Given the description of an element on the screen output the (x, y) to click on. 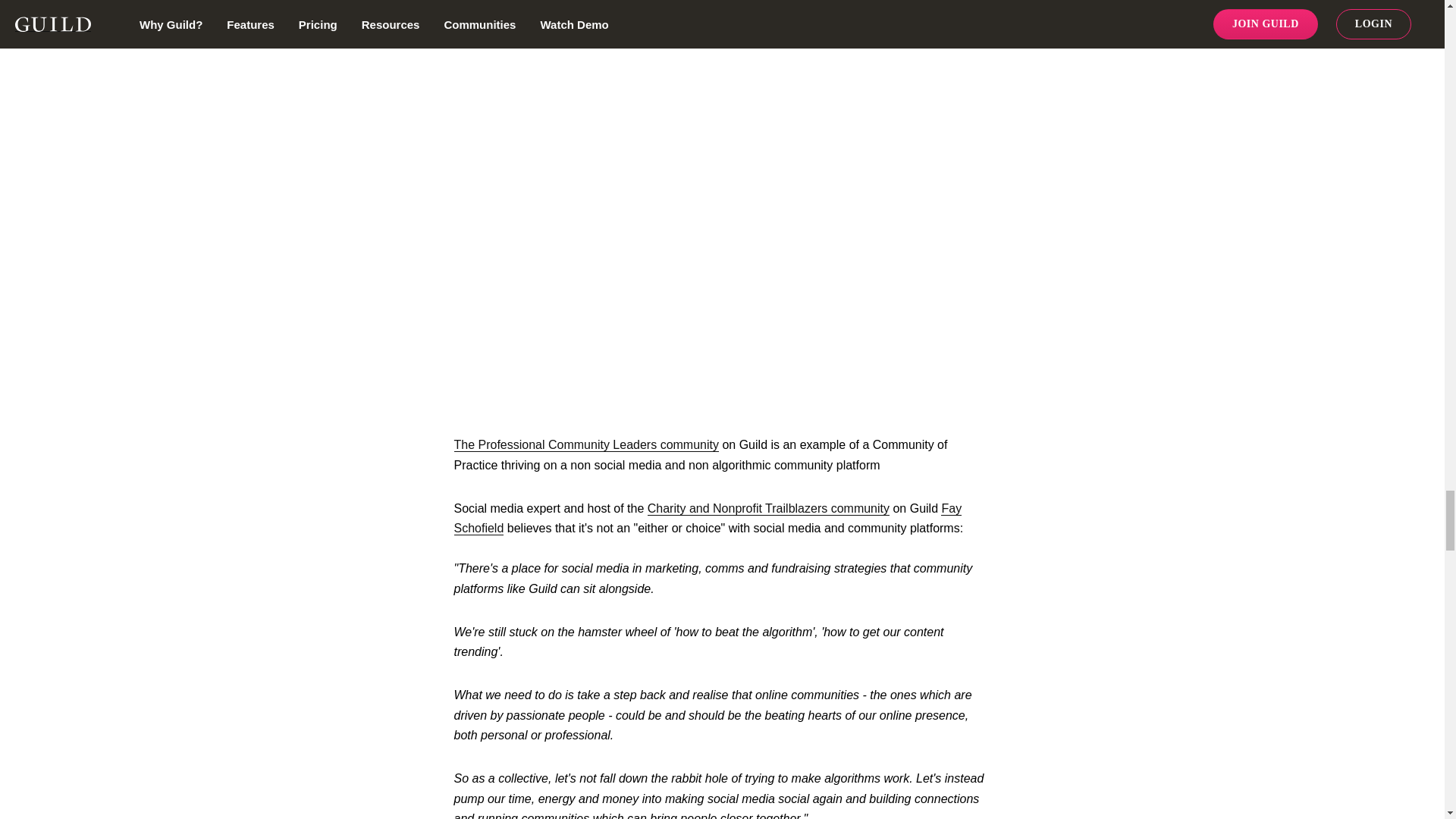
The Professional Community Leaders community (584, 445)
Fay Schofield (706, 519)
Charity and Nonprofit Trailblazers community (768, 508)
